Given the description of an element on the screen output the (x, y) to click on. 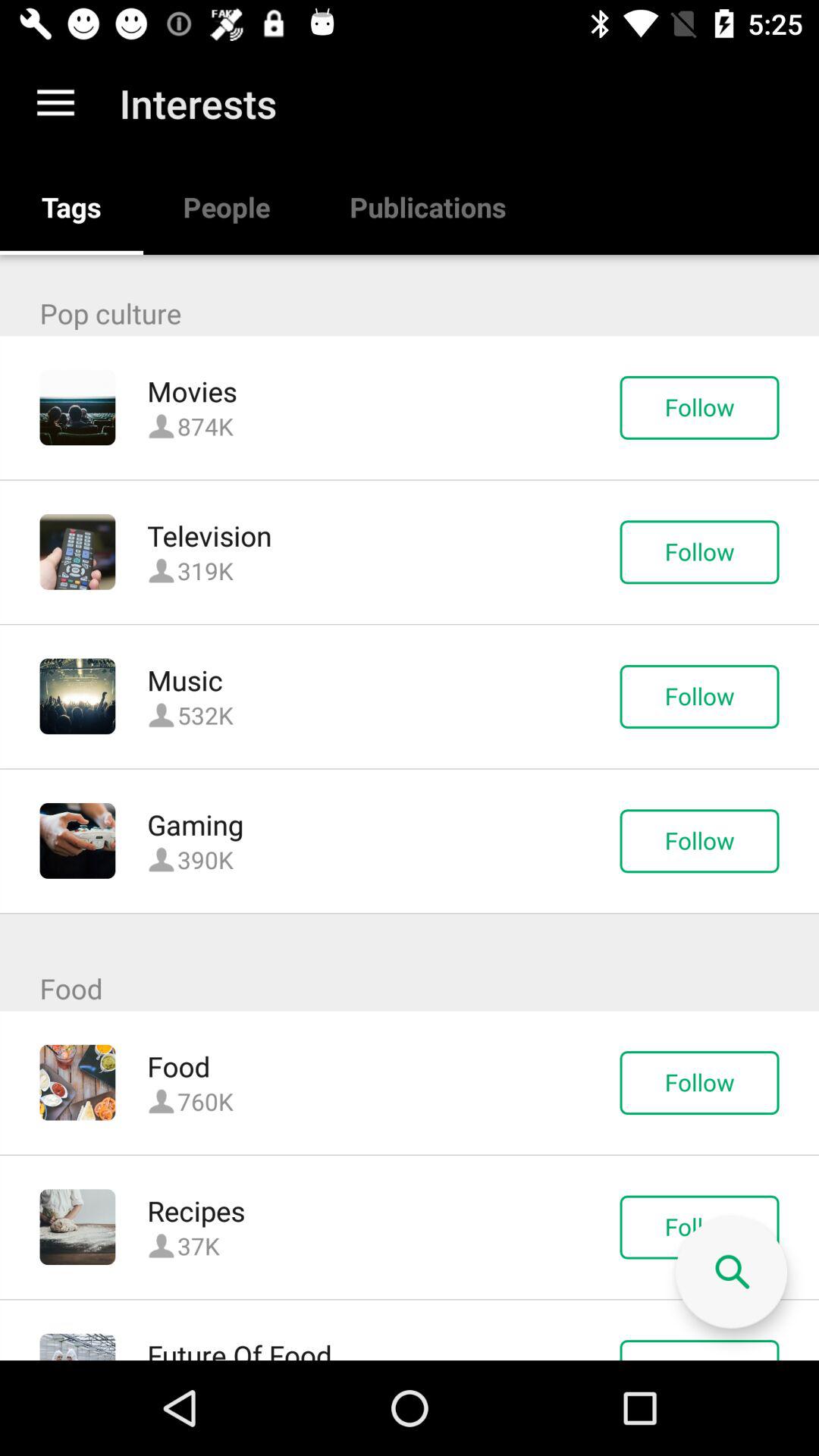
select item above the tags icon (55, 103)
